Given the description of an element on the screen output the (x, y) to click on. 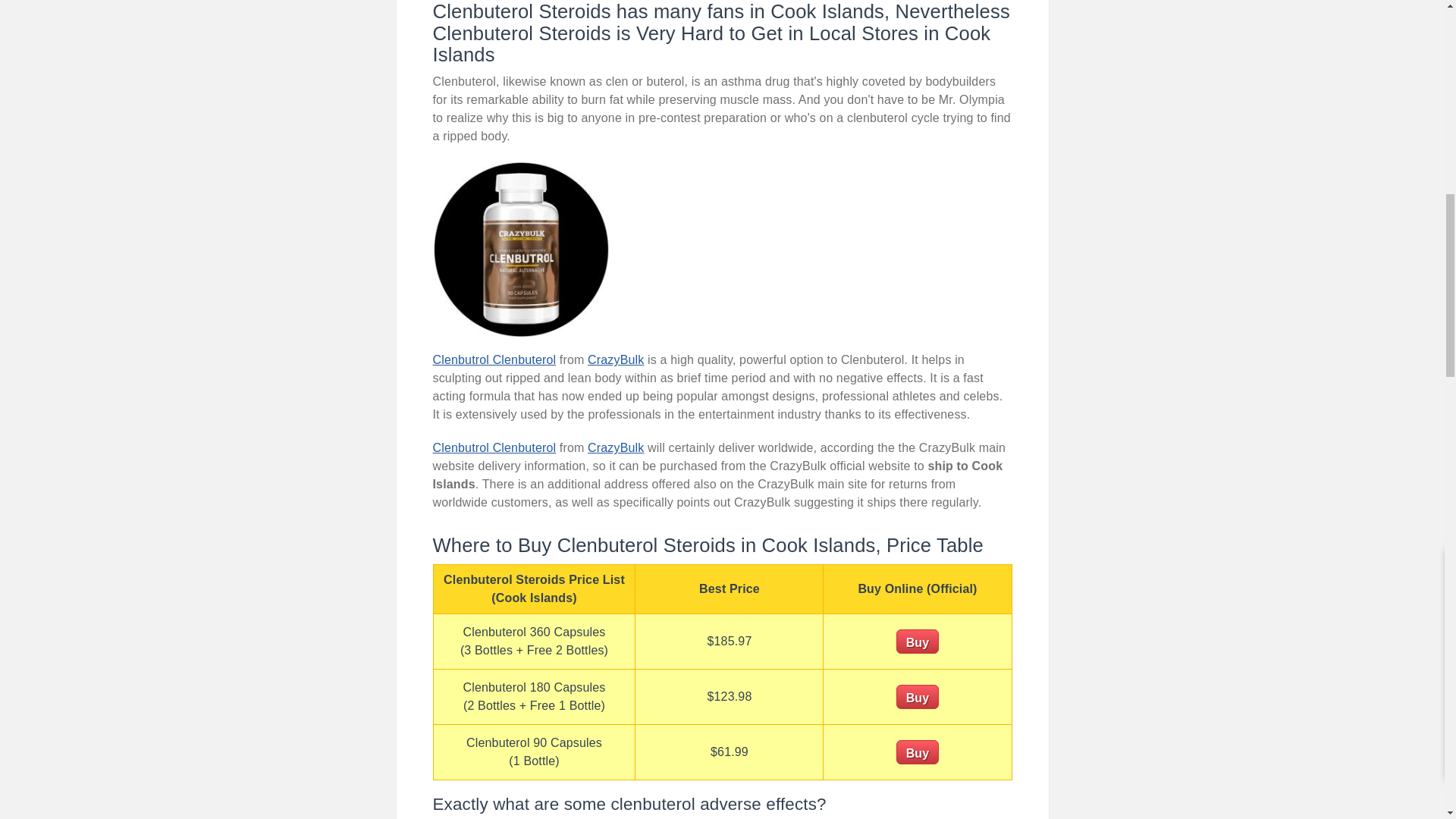
Where to Purchase Clenbuterol Steroids in Cook Islands (521, 249)
